Given the description of an element on the screen output the (x, y) to click on. 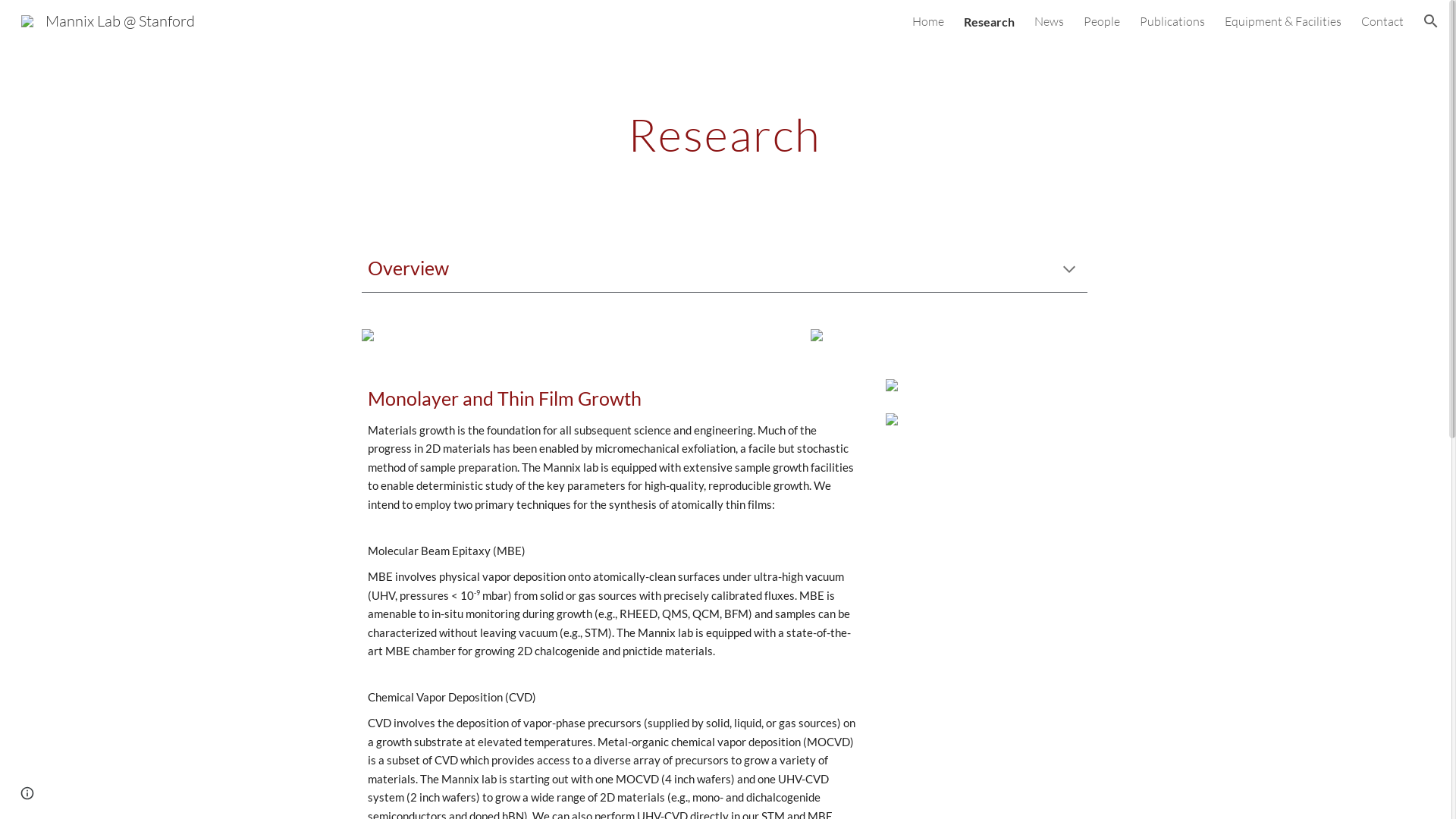
Research Element type: text (988, 20)
Contact Element type: text (1382, 20)
Mannix Lab @ Stanford Element type: text (107, 18)
Equipment & Facilities Element type: text (1282, 20)
Publications Element type: text (1171, 20)
News Element type: text (1048, 20)
People Element type: text (1101, 20)
Home Element type: text (928, 20)
